Given the description of an element on the screen output the (x, y) to click on. 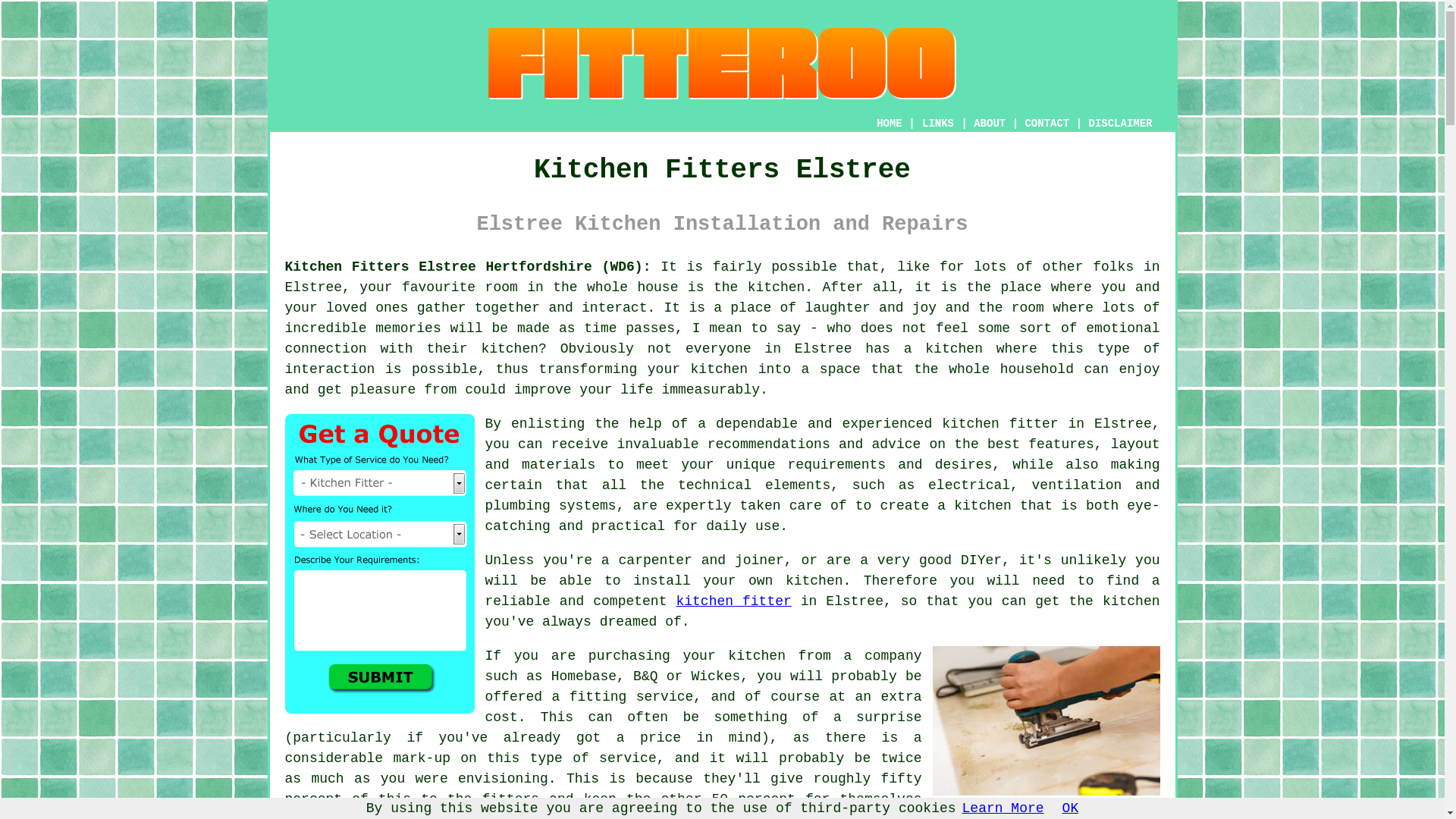
kitchen fitter (1000, 423)
LINKS (938, 123)
kitchen fitter (732, 601)
Kitchen Fitters Elstree Hertfordshire (1046, 720)
your kitchen (697, 368)
HOME (889, 123)
